Given the description of an element on the screen output the (x, y) to click on. 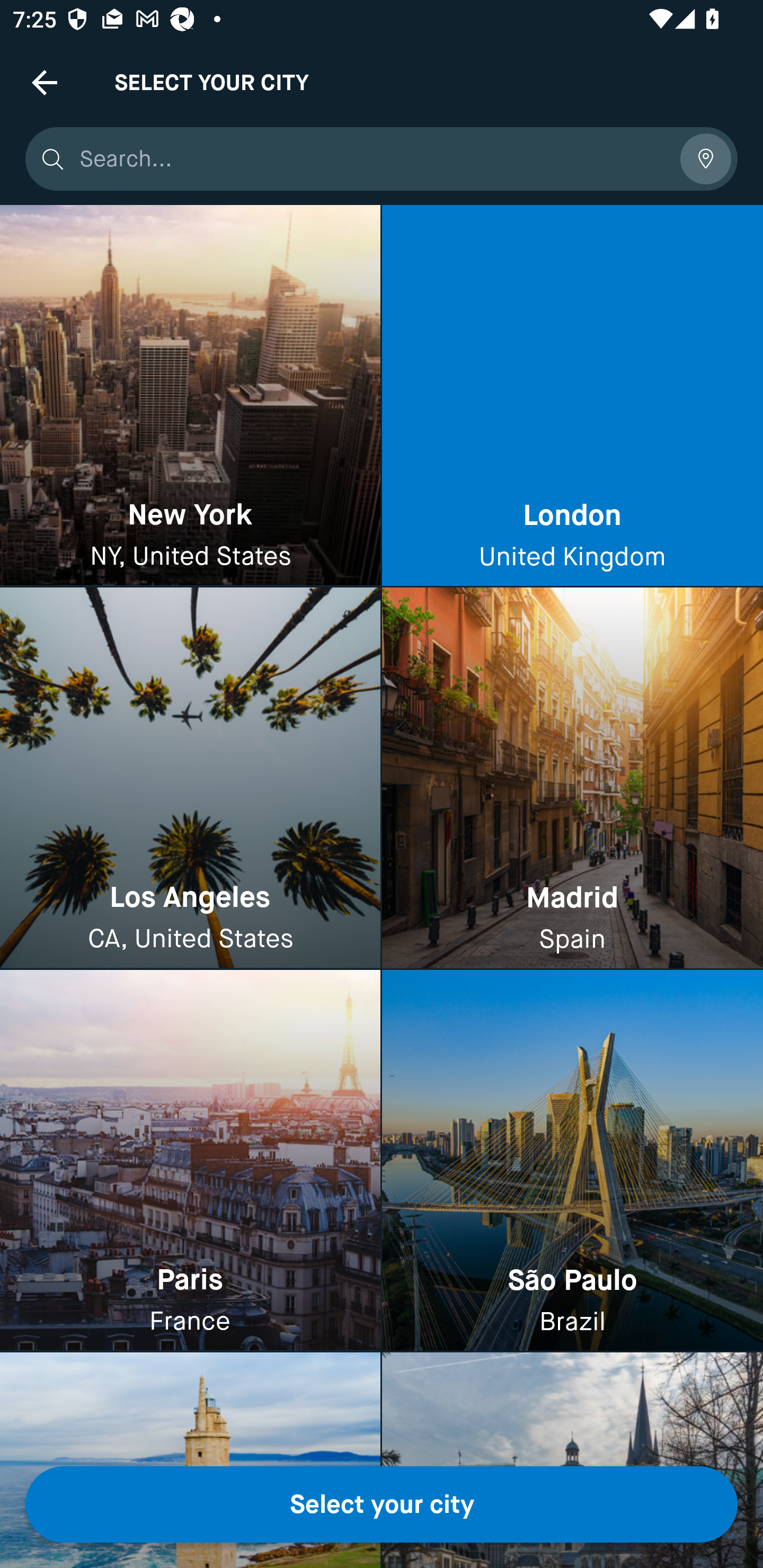
Navigate up (44, 82)
Search... (373, 159)
New York NY, United States (190, 395)
London United Kingdom (572, 395)
Los Angeles CA, United States (190, 778)
Madrid Spain (572, 778)
Paris France (190, 1160)
São Paulo Brazil (572, 1160)
Select your city (381, 1504)
